Given the description of an element on the screen output the (x, y) to click on. 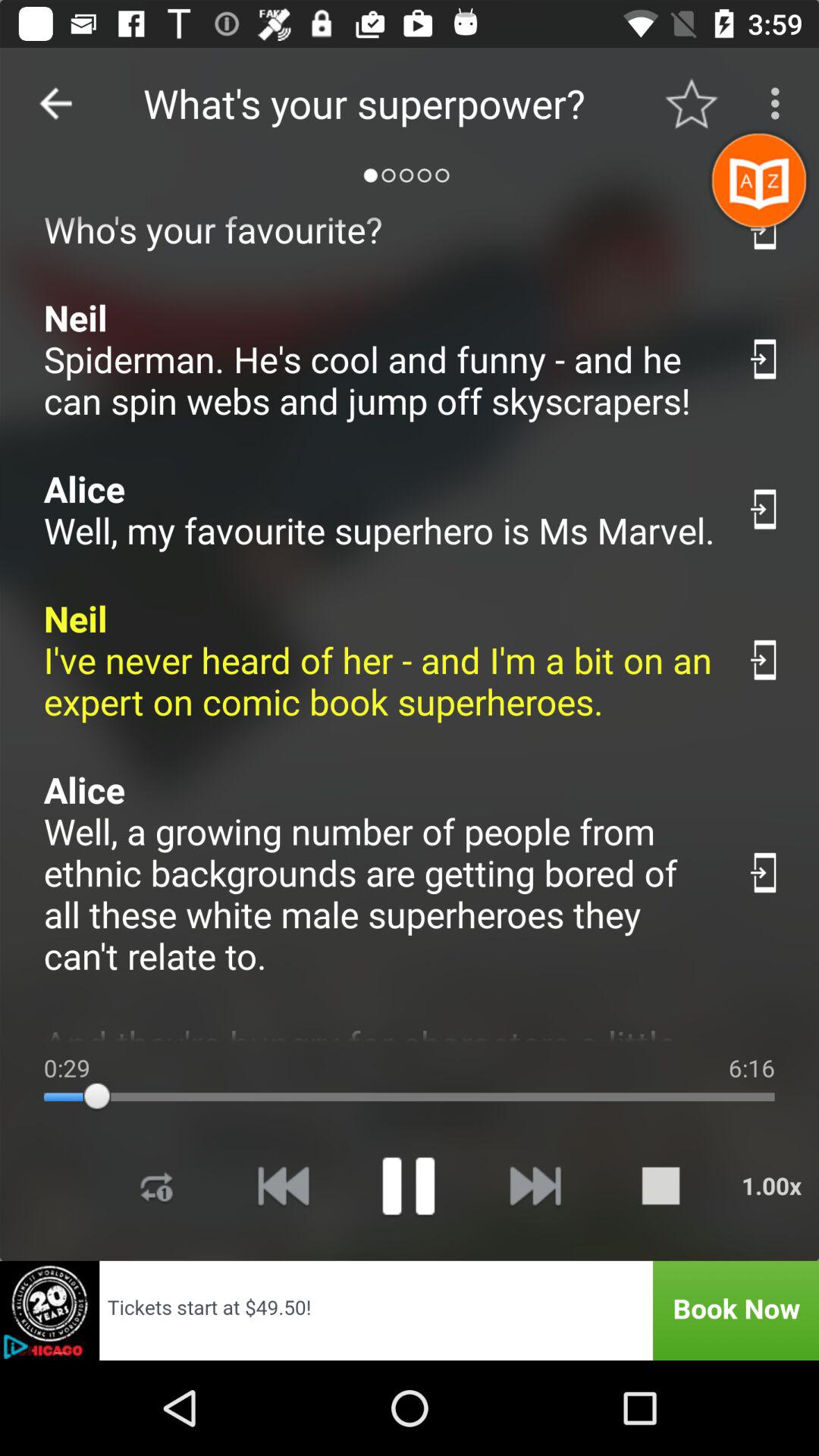
fast forwards (534, 1185)
